Given the description of an element on the screen output the (x, y) to click on. 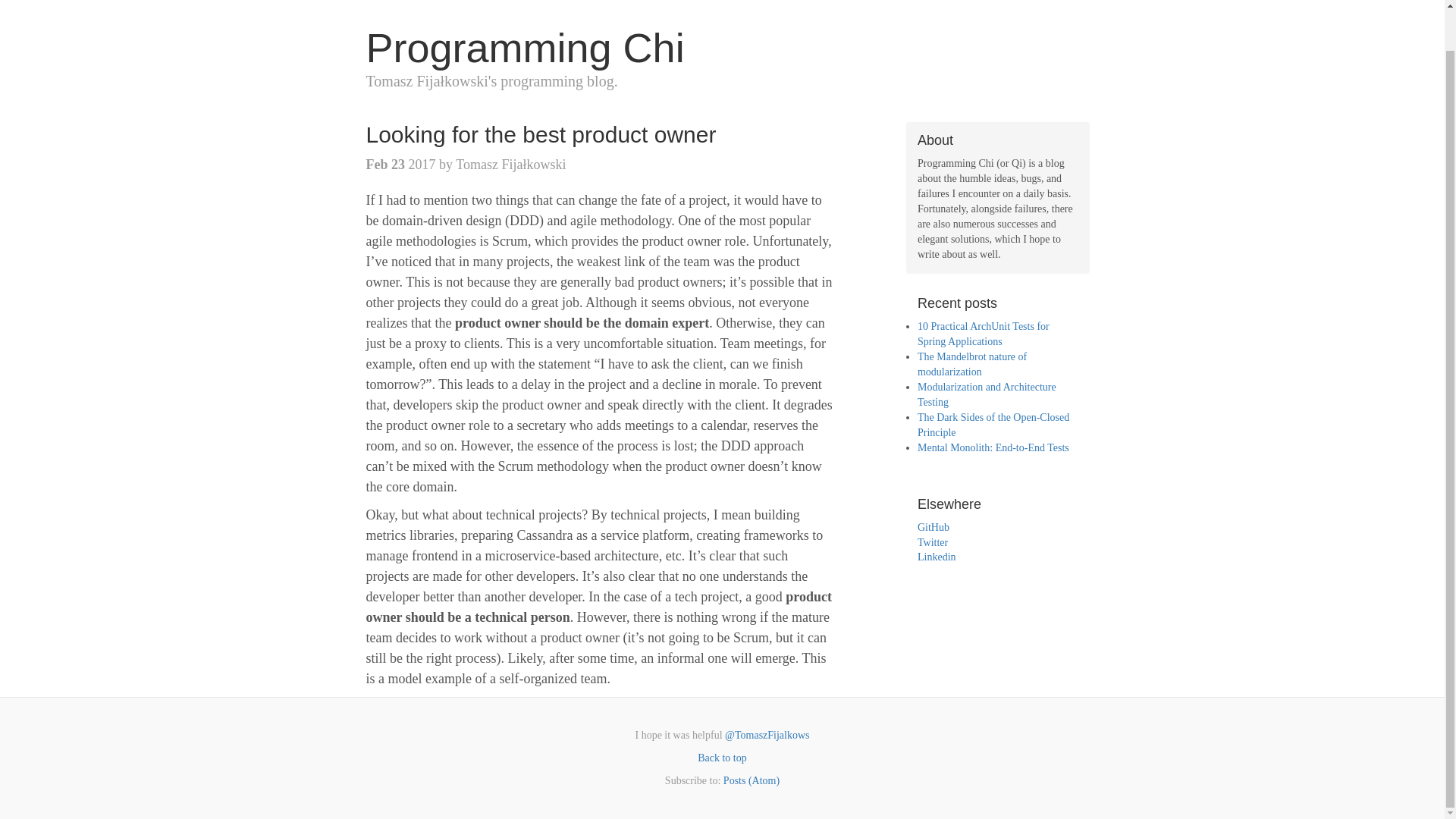
The Mandelbrot nature of modularization (971, 364)
Linkedin (936, 556)
Back to top (721, 757)
10 Practical ArchUnit Tests for Spring Applications (983, 334)
Modularization and Architecture Testing (987, 394)
The Dark Sides of the Open-Closed Principle (992, 424)
GitHub (933, 527)
Twitter (932, 542)
Mental Monolith: End-to-End Tests (992, 447)
